Given the description of an element on the screen output the (x, y) to click on. 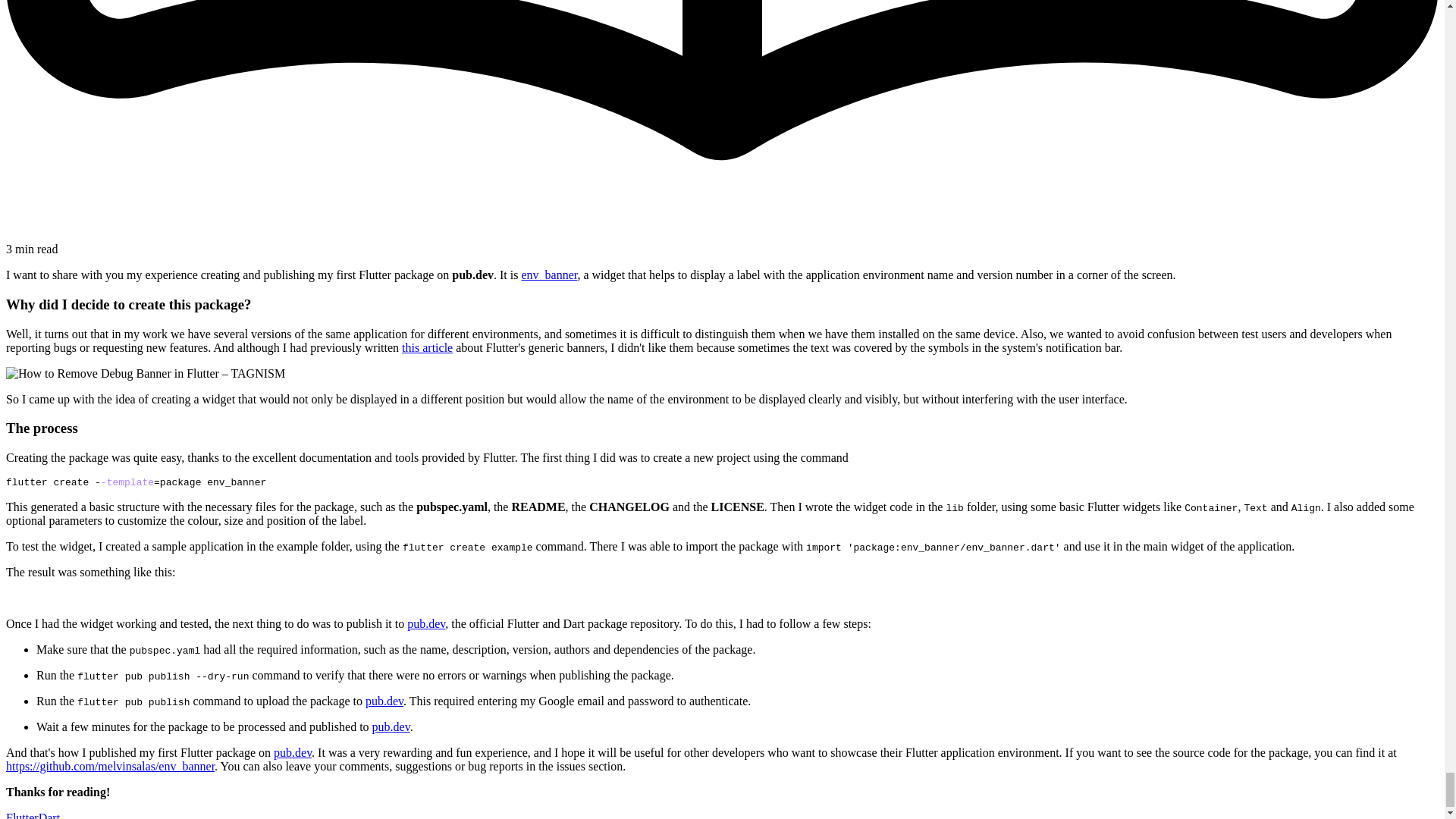
pub.dev (426, 623)
pub.dev (292, 752)
pub.dev (391, 726)
pub.dev (384, 700)
this article (426, 347)
